Given the description of an element on the screen output the (x, y) to click on. 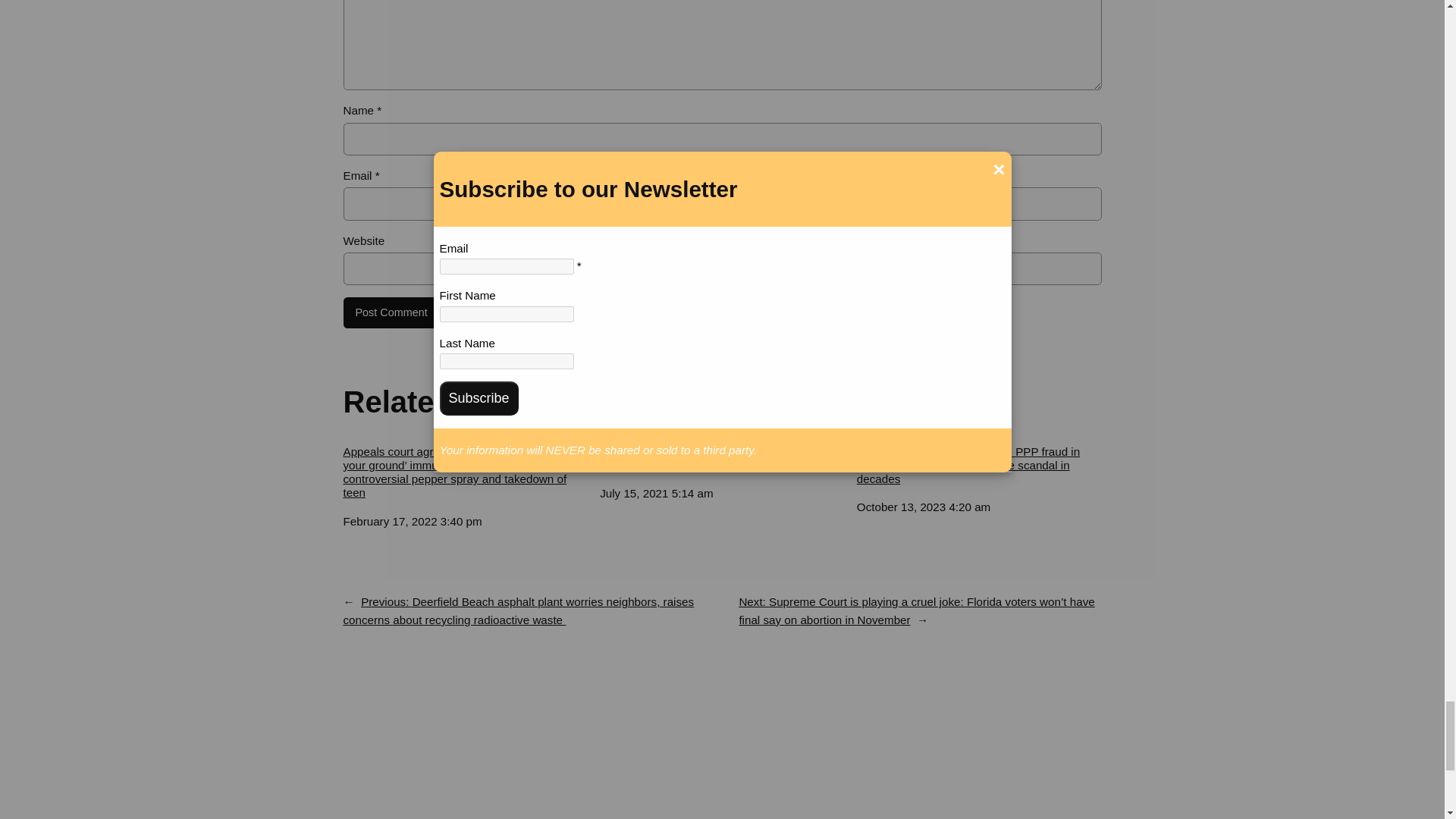
Post Comment (390, 313)
